Given the description of an element on the screen output the (x, y) to click on. 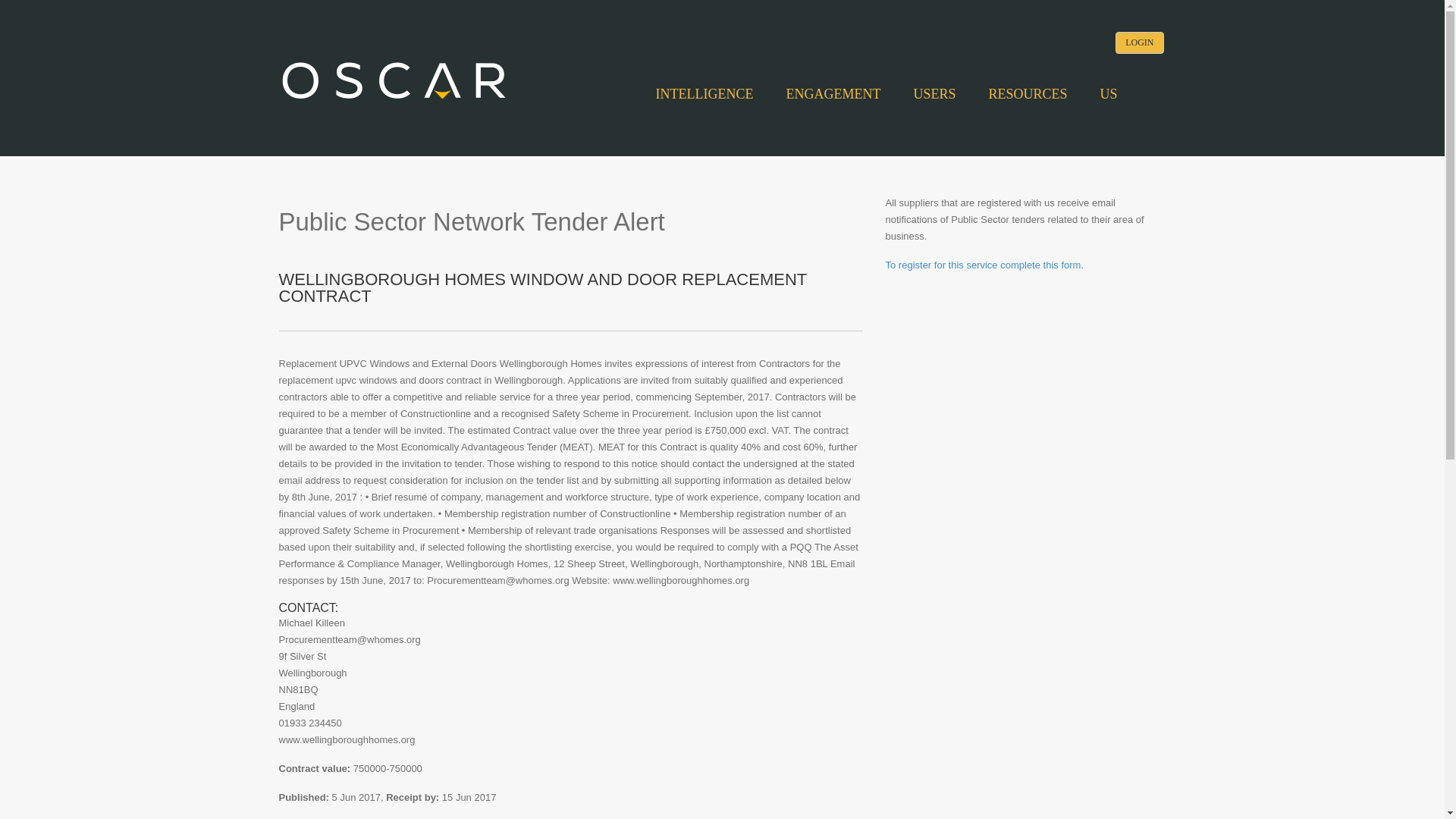
RESOURCES (1027, 94)
US (1107, 94)
LOGIN (1139, 42)
USERS (933, 94)
To register for this service complete this form. (984, 265)
INTELLIGENCE (703, 94)
ENGAGEMENT (833, 94)
